Given the description of an element on the screen output the (x, y) to click on. 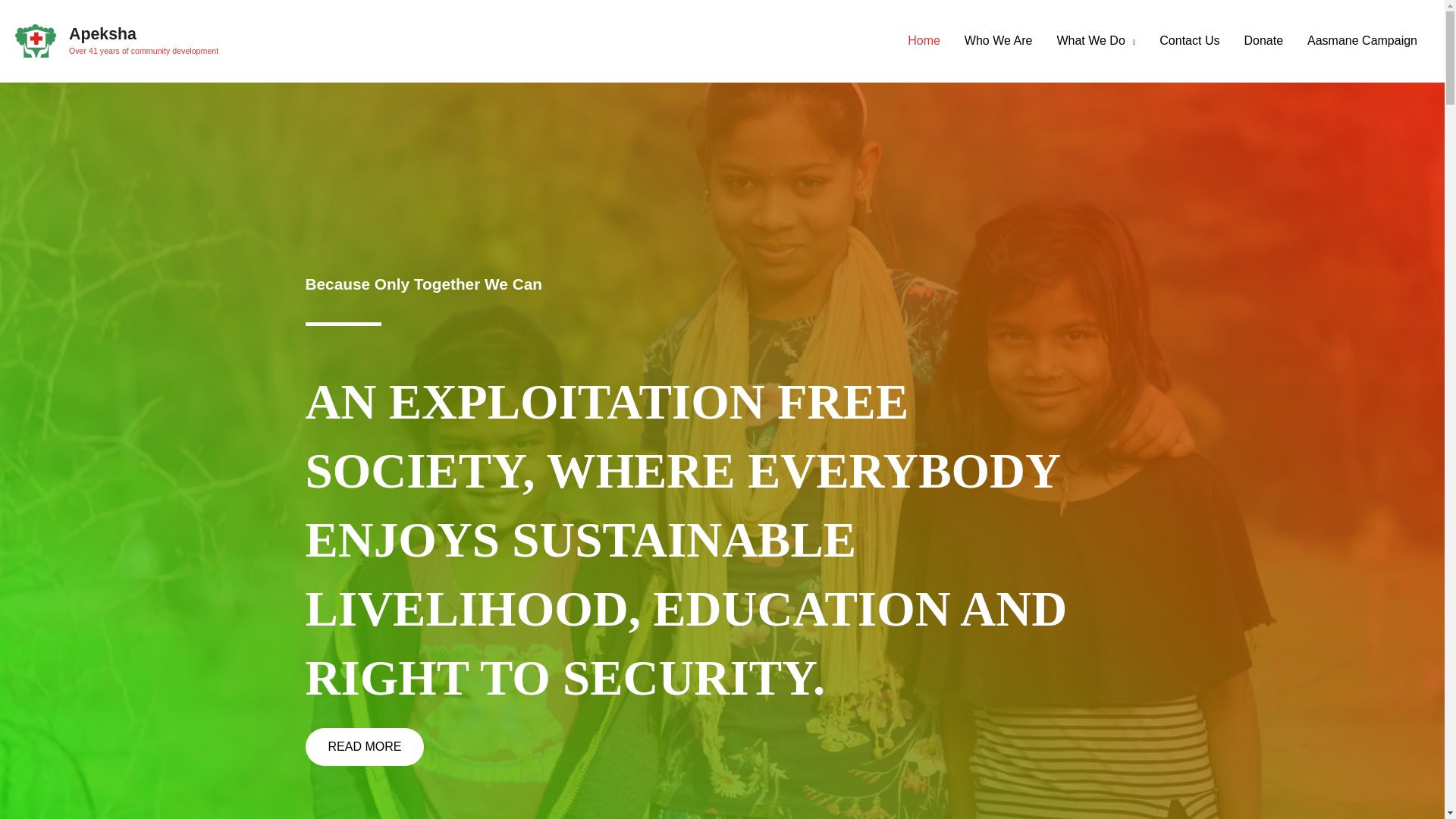
READ MORE (363, 746)
What We Do (1095, 40)
Donate (1263, 40)
Contact Us (1189, 40)
Home (923, 40)
Apeksha (102, 34)
Aasmane Campaign (1362, 40)
Who We Are (998, 40)
